Given the description of an element on the screen output the (x, y) to click on. 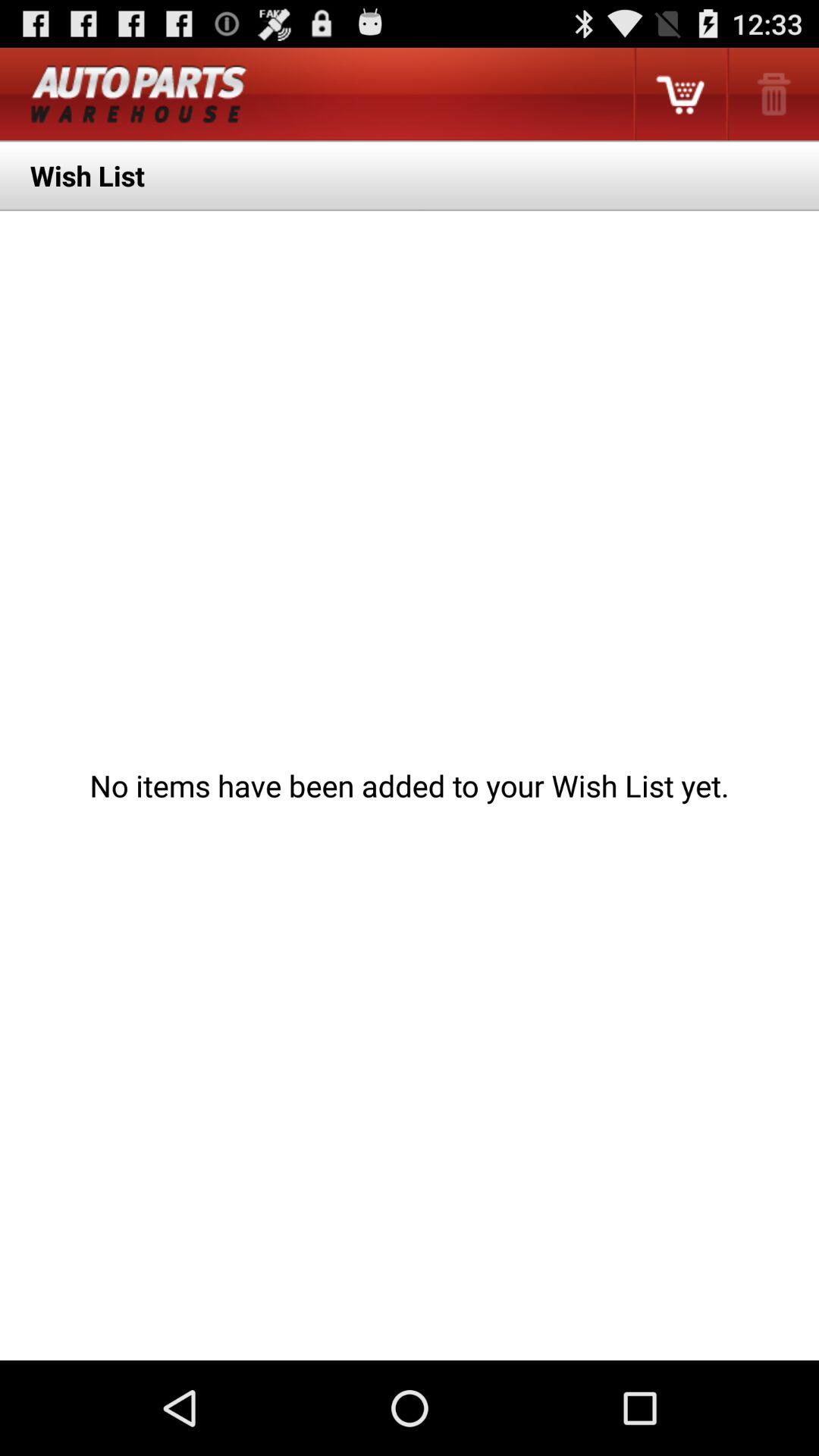
trash (772, 93)
